Given the description of an element on the screen output the (x, y) to click on. 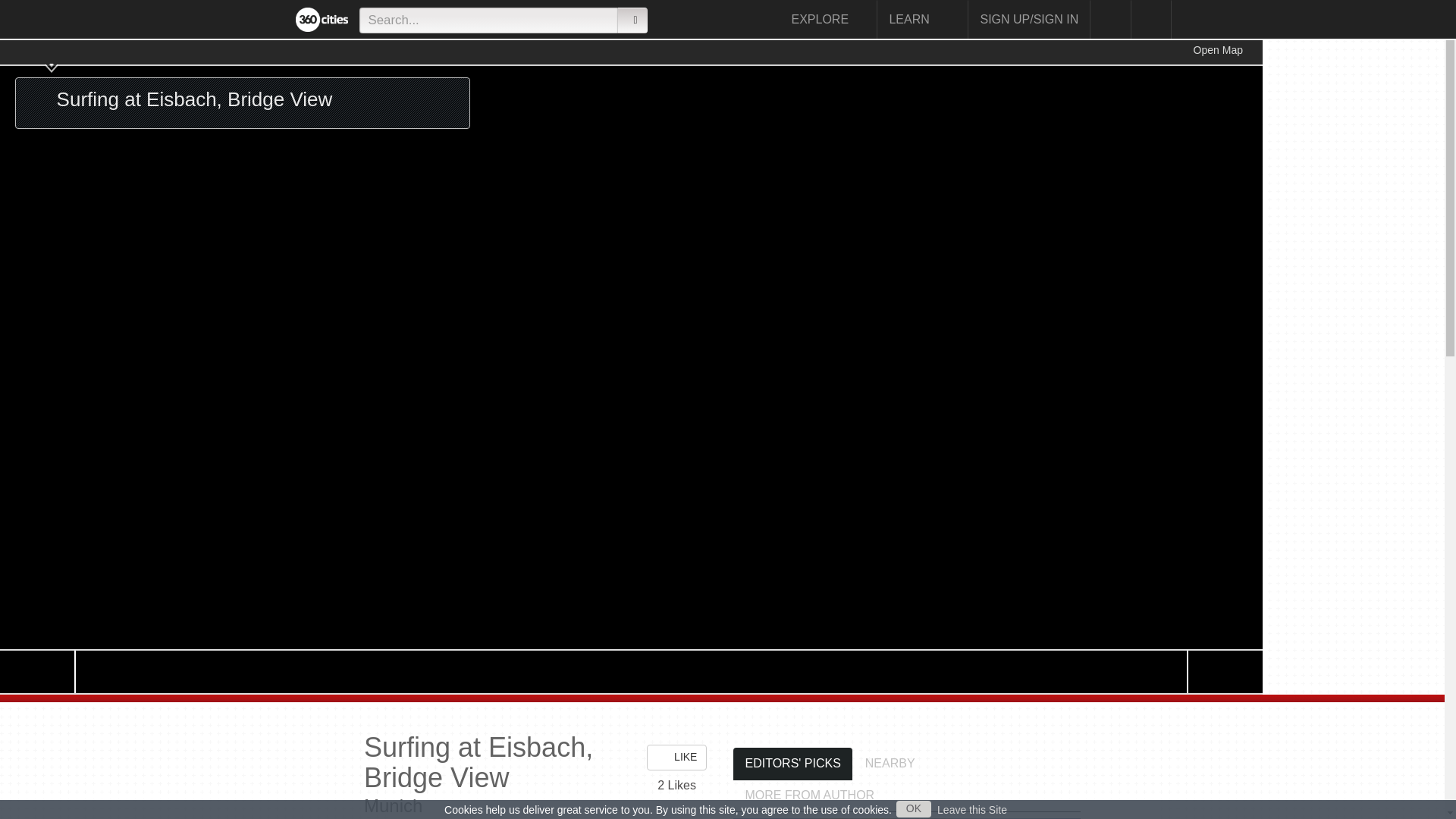
EXPLORE (827, 19)
LEARN (922, 19)
